Given the description of an element on the screen output the (x, y) to click on. 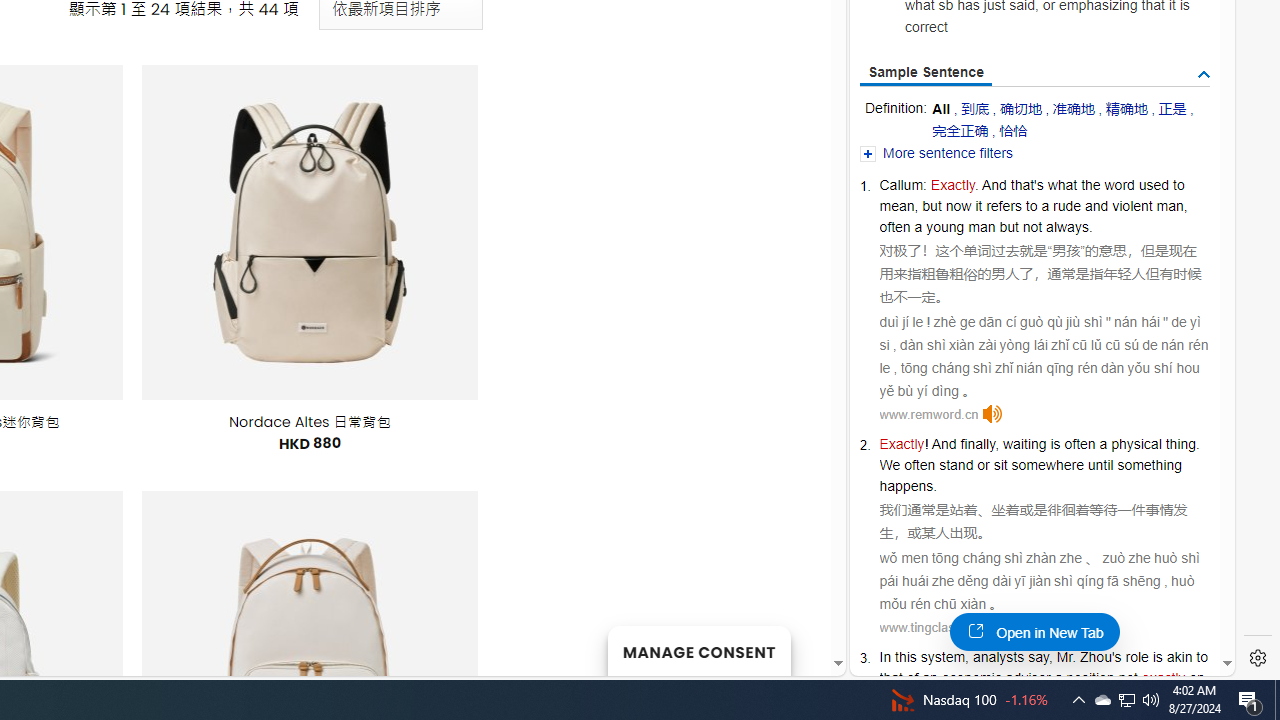
In (885, 656)
refers (1003, 205)
man (981, 226)
say (1038, 656)
a (1057, 678)
system (943, 656)
stand (956, 465)
not always (1055, 226)
